Given the description of an element on the screen output the (x, y) to click on. 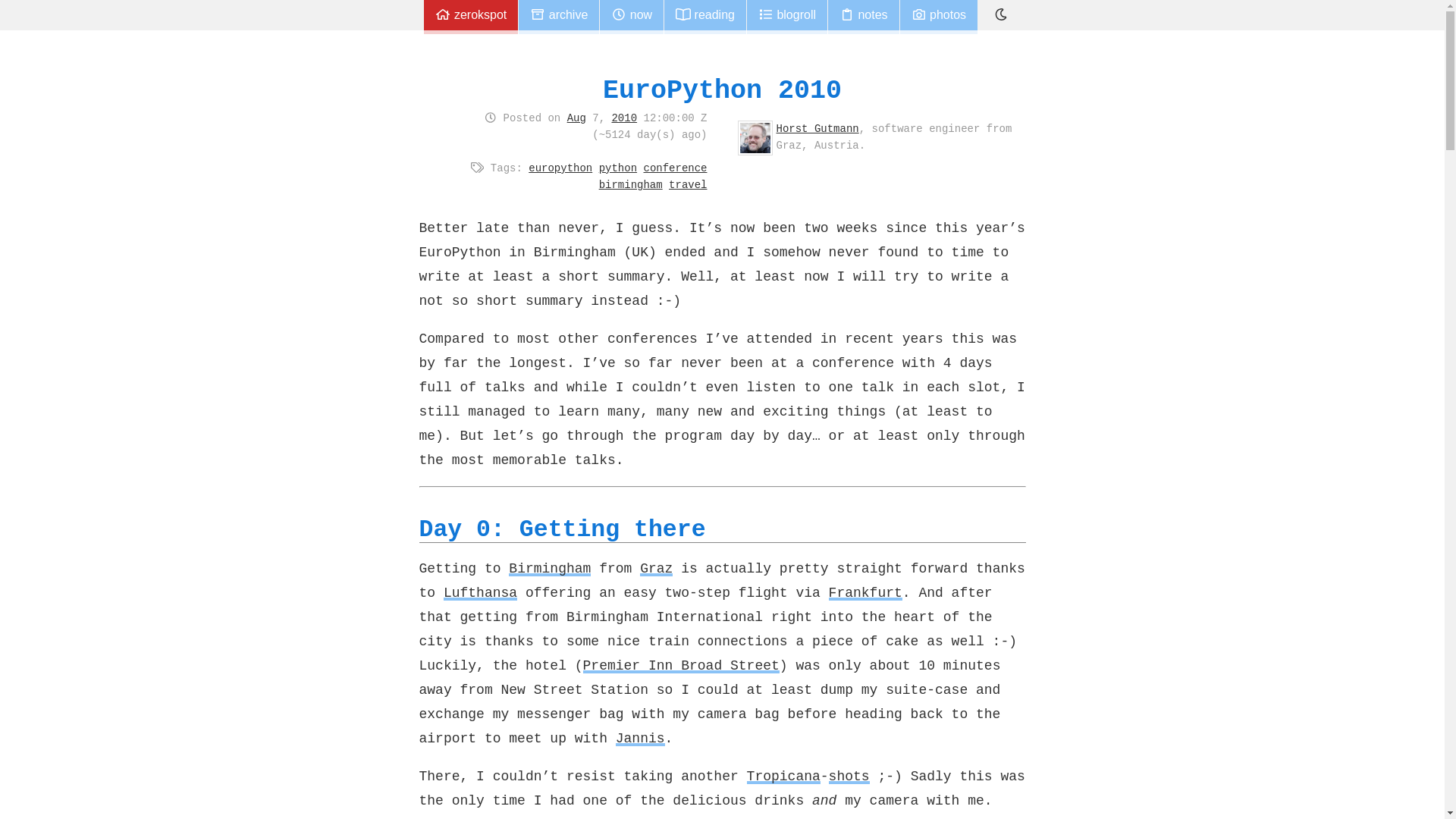
now (631, 17)
blogroll (786, 17)
zerokspot (470, 17)
conference (674, 168)
reading (704, 17)
EuroPython 2010 (721, 91)
Frankfurt (865, 592)
2010 (624, 118)
Premier Inn Broad Street (680, 665)
Jannis (640, 738)
